Given the description of an element on the screen output the (x, y) to click on. 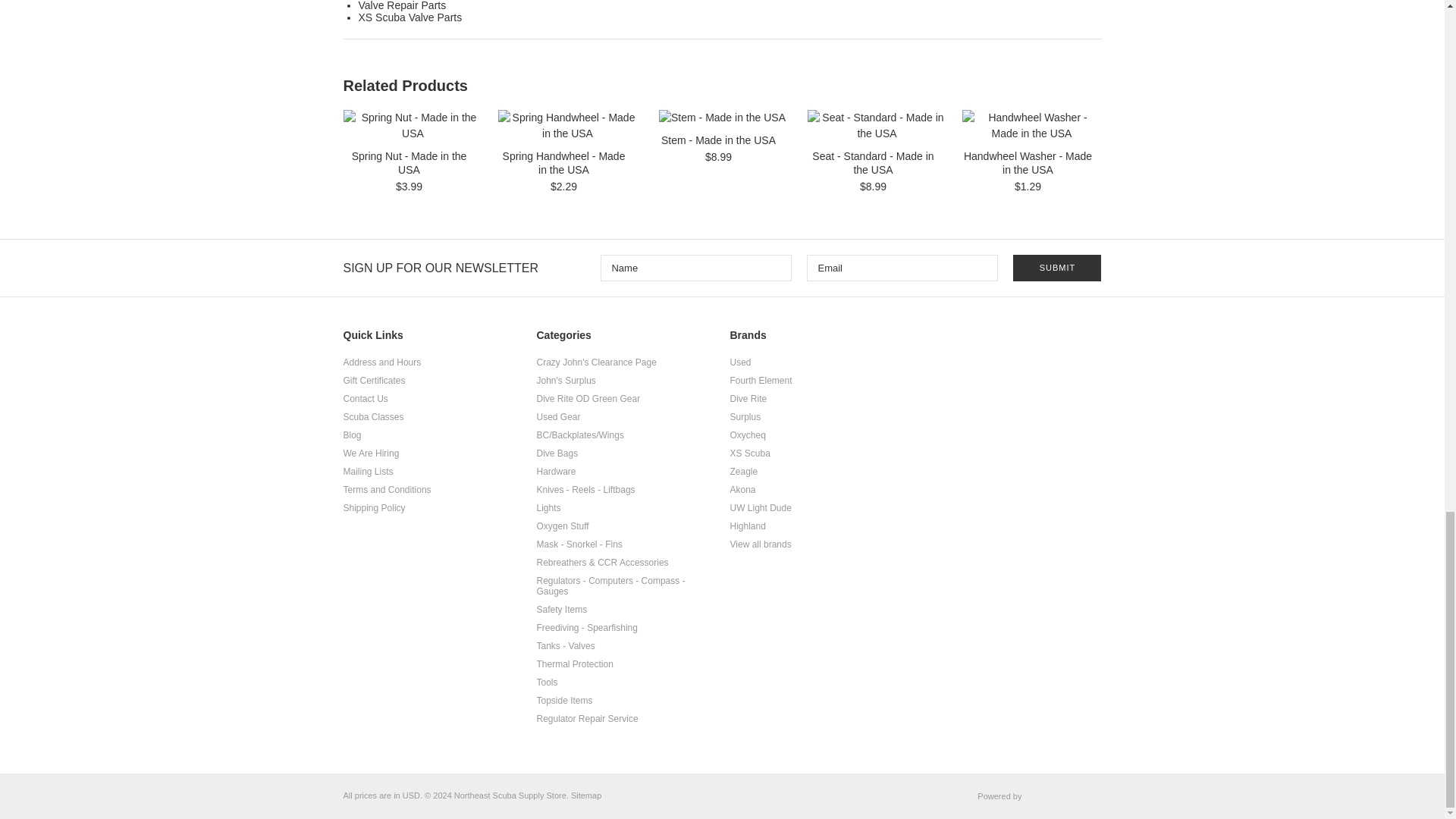
Submit (1056, 267)
Name (695, 267)
Default Currency (411, 795)
Email (901, 267)
